Given the description of an element on the screen output the (x, y) to click on. 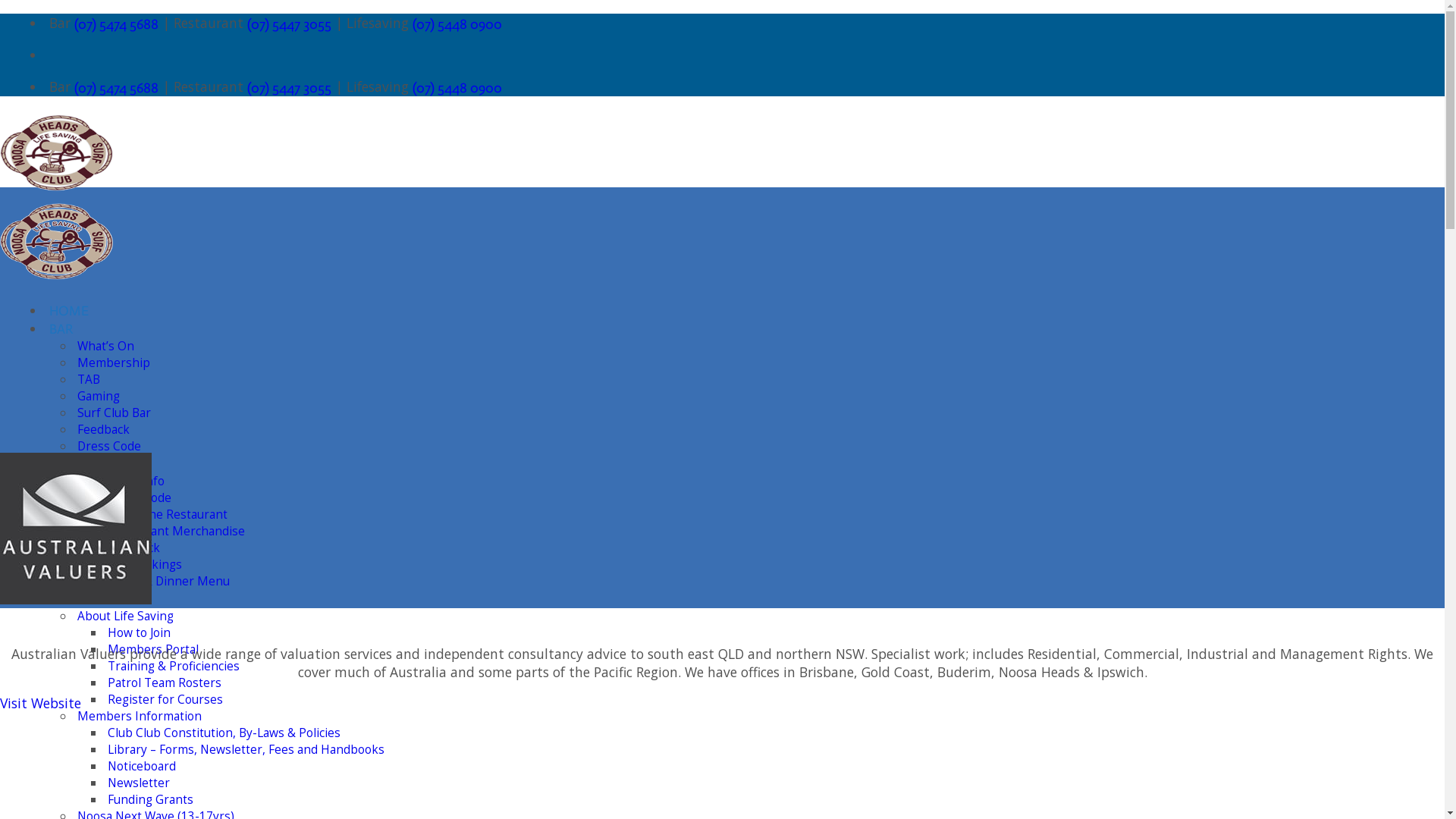
Training & Proficiencies Element type: text (173, 665)
(07) 5448 0900 Element type: text (457, 23)
Members Information Element type: text (139, 715)
Menus & Bookings Element type: text (129, 563)
How to Join Element type: text (138, 632)
Feedback Element type: text (133, 547)
About the Restaurant Element type: text (167, 513)
Restaurant Info Element type: text (120, 480)
LIFESAVING Element type: text (85, 598)
Funding Grants Element type: text (150, 798)
About Life Saving Element type: text (125, 615)
Feedback Element type: text (103, 428)
(07) 5474 5688 Element type: text (116, 23)
Register for Courses Element type: text (164, 698)
Noosa Heads Surf Lifesaving Club - Come up and save a life Element type: hover (56, 233)
Membership Element type: text (113, 362)
Dress Code Element type: text (139, 497)
Lunch & Dinner Menu Element type: text (168, 580)
(07) 5447 3055 Element type: text (289, 23)
Club Club Constitution, By-Laws & Policies Element type: text (223, 732)
Members Portal Element type: text (152, 648)
(07) 5474 5688 Element type: text (116, 87)
Newsletter Element type: text (138, 782)
Patrol Team Rosters Element type: text (164, 682)
Noticeboard Element type: text (141, 765)
TAB Element type: text (88, 378)
HOME Element type: text (68, 310)
Dress Code Element type: text (109, 445)
RESTAURANT Element type: text (90, 463)
Gaming Element type: text (98, 395)
Surf Club Bar Element type: text (113, 412)
Visit Website Element type: text (40, 702)
(07) 5448 0900 Element type: text (457, 87)
(07) 5447 3055 Element type: text (289, 87)
Restaurant Merchandise Element type: text (175, 530)
BAR Element type: text (61, 328)
